Given the description of an element on the screen output the (x, y) to click on. 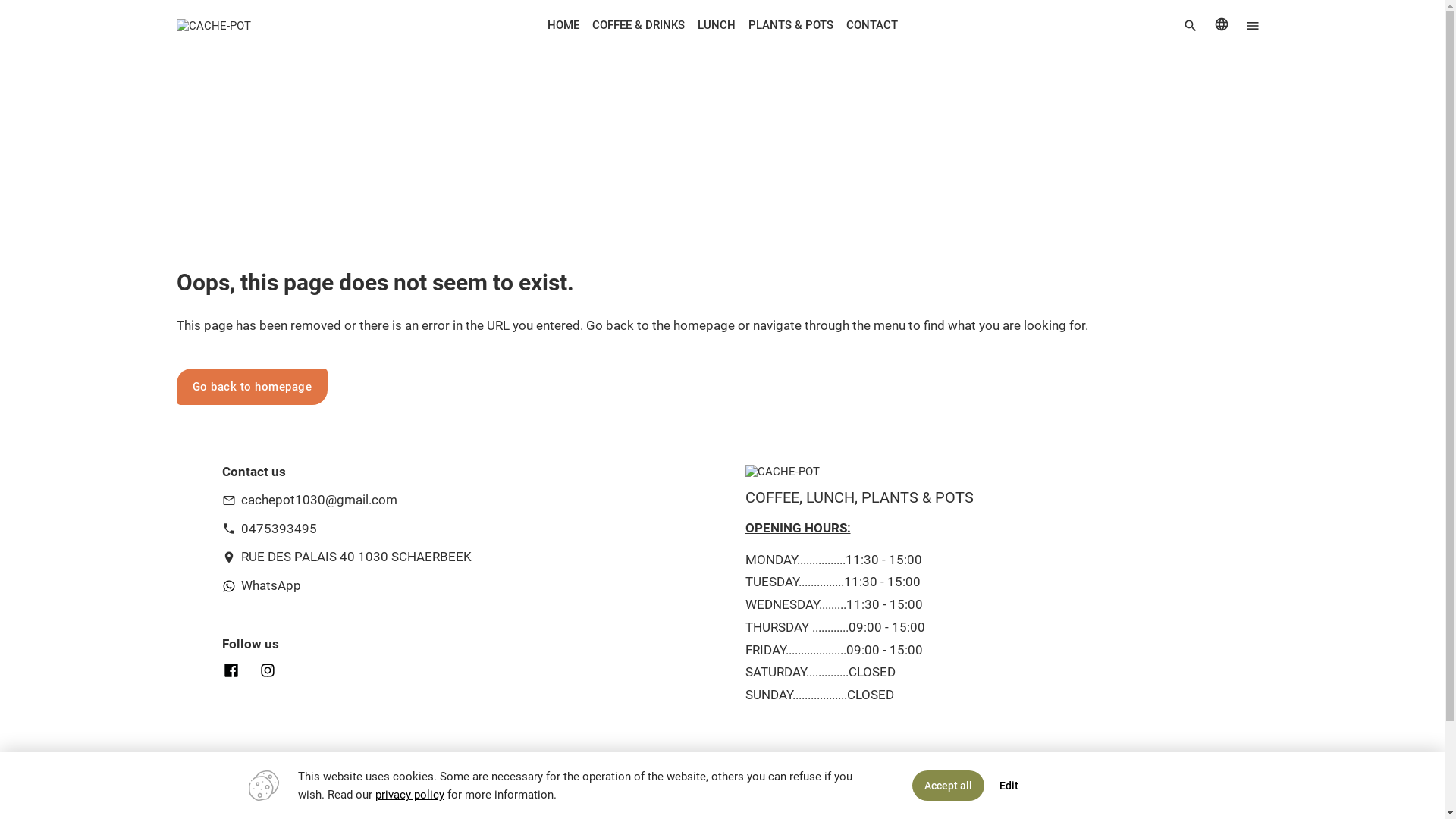
mail_outline
cachepot1030@gmail.com Element type: text (308, 503)
CACHE-POT Element type: hover (781, 471)
COFFEE & DRINKS Element type: text (637, 24)
HOME Element type: text (562, 24)
LUNCH Element type: text (715, 24)
Go back to homepage Element type: text (251, 386)
privacy policy Element type: text (408, 794)
CACHE-POT Instagram Element type: hover (266, 670)
phone
0475393495 Element type: text (268, 531)
CACHE-POT Element type: hover (212, 24)
Edit Element type: text (1008, 785)
location_on
RUE DES PALAIS 40 1030 SCHAERBEEK Element type: text (345, 560)
Accept all Element type: text (947, 785)
WhatsApp Element type: text (260, 588)
PLANTS & POTS Element type: text (790, 24)
CONTACT Element type: text (871, 24)
menu Element type: text (1252, 24)
search Element type: text (1190, 24)
CACHE-POT Facebook Element type: hover (234, 670)
